Given the description of an element on the screen output the (x, y) to click on. 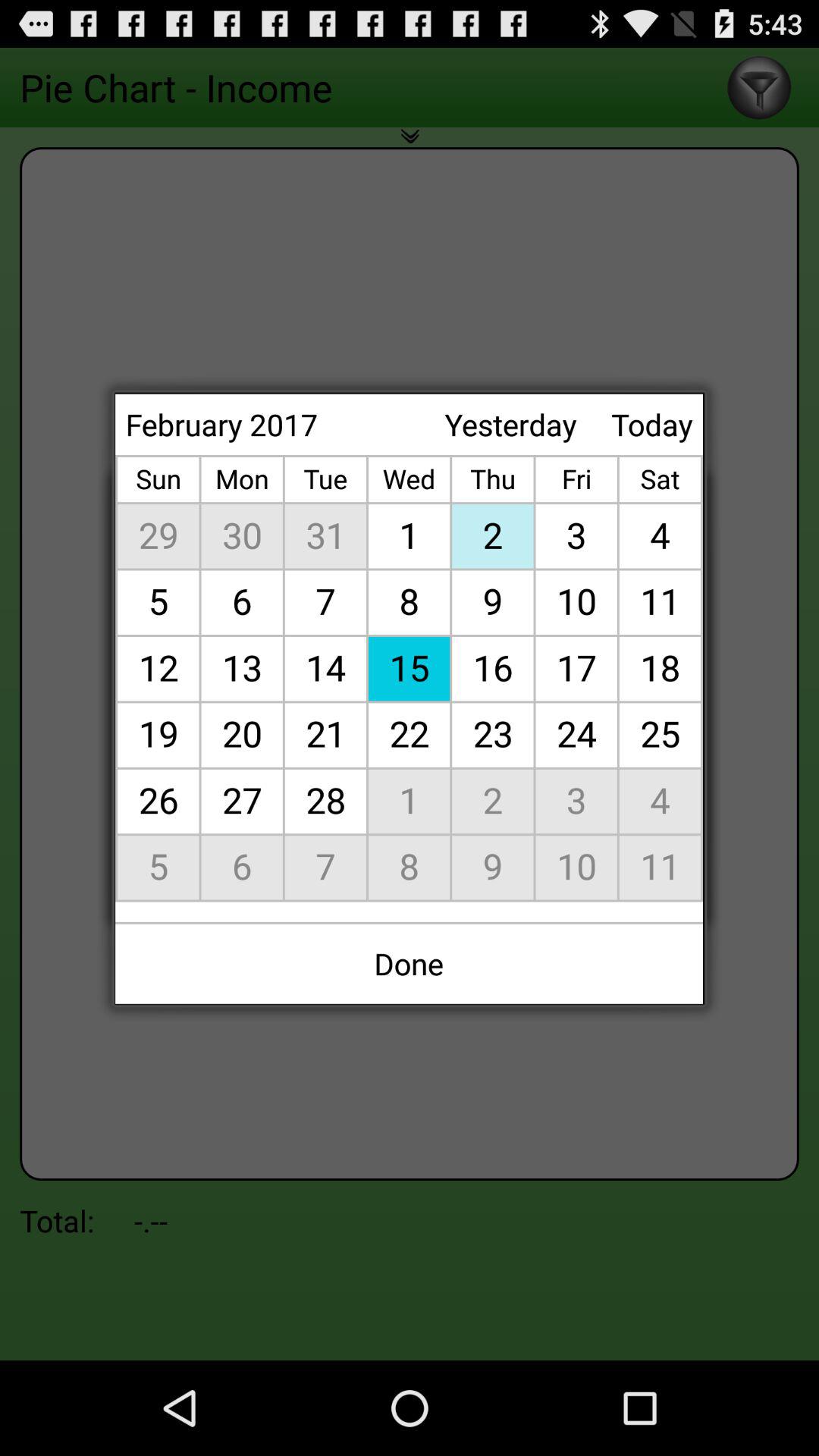
swipe to the done icon (408, 963)
